Given the description of an element on the screen output the (x, y) to click on. 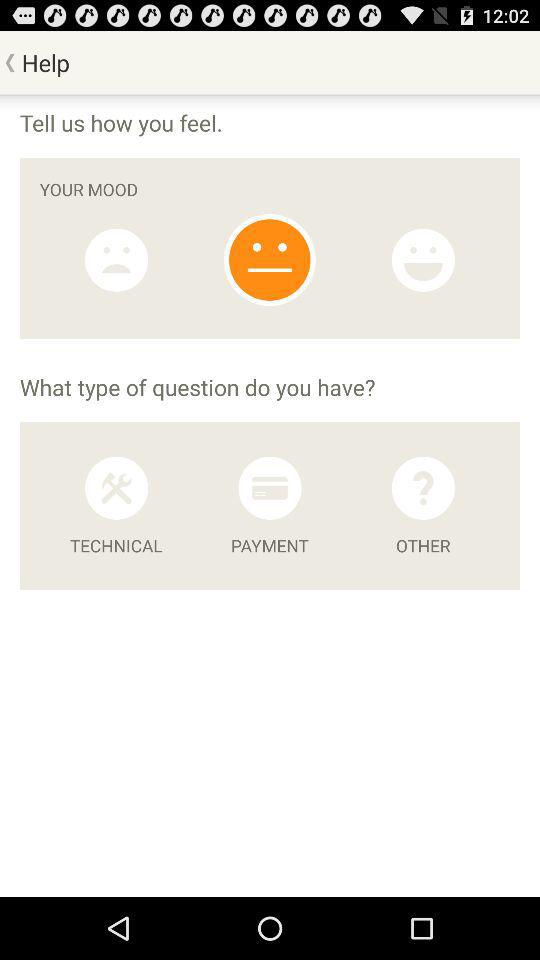
open other questions menu (423, 488)
